Given the description of an element on the screen output the (x, y) to click on. 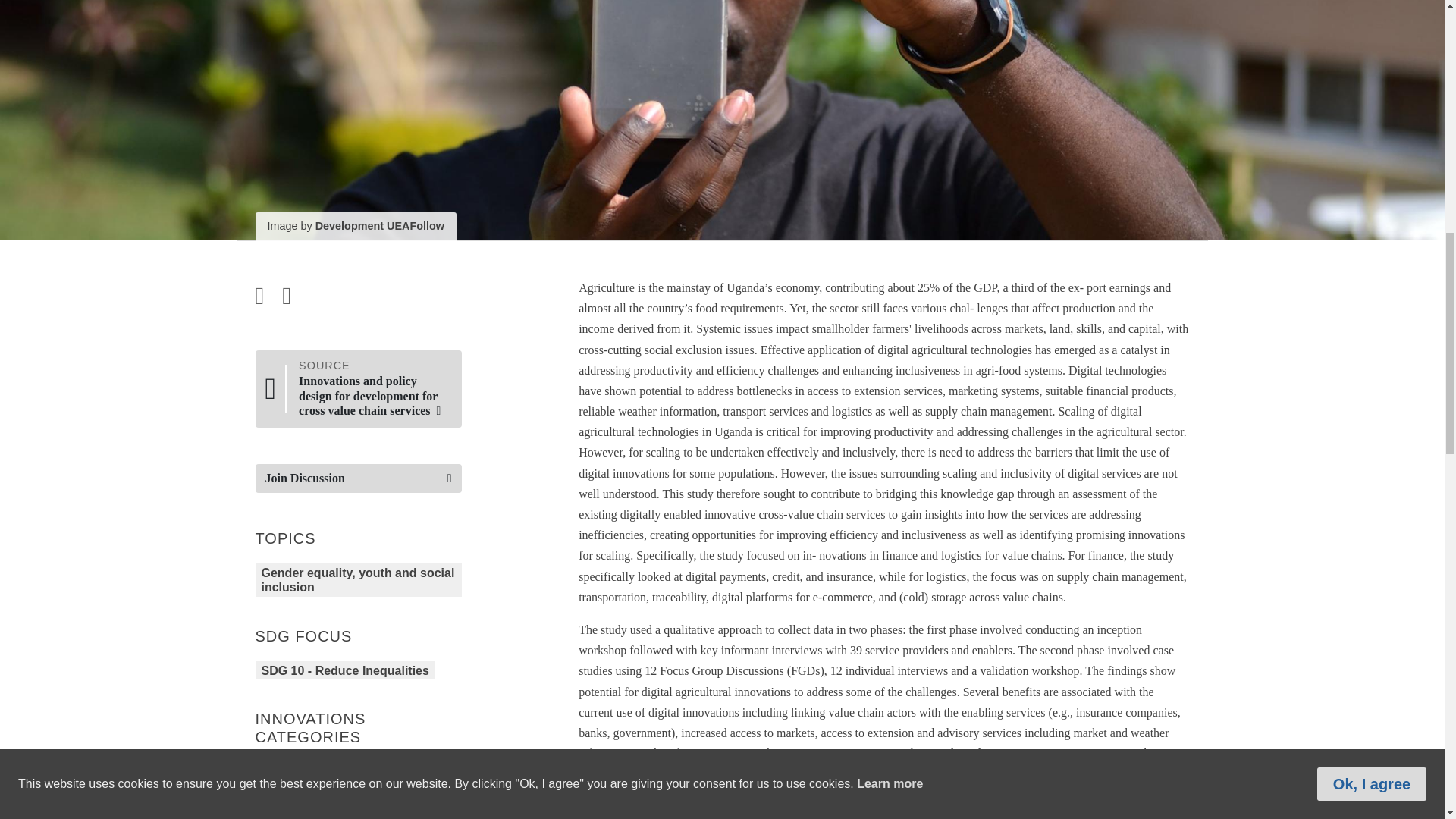
Ok, I agree (1371, 62)
